Given the description of an element on the screen output the (x, y) to click on. 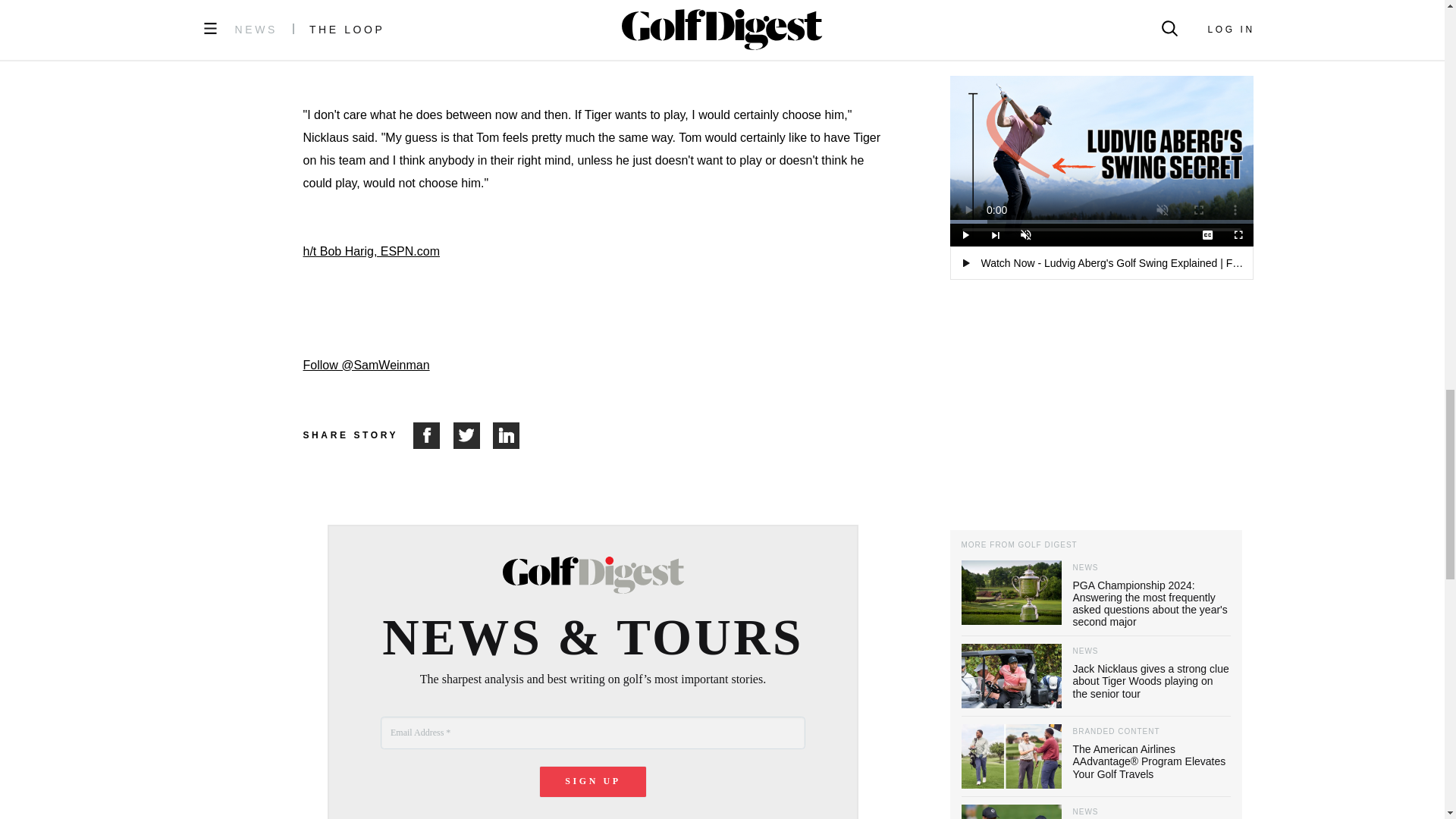
Sign up (593, 781)
Share on Twitter (472, 435)
Share on Facebook (432, 435)
Share on LinkedIn (506, 435)
